Given the description of an element on the screen output the (x, y) to click on. 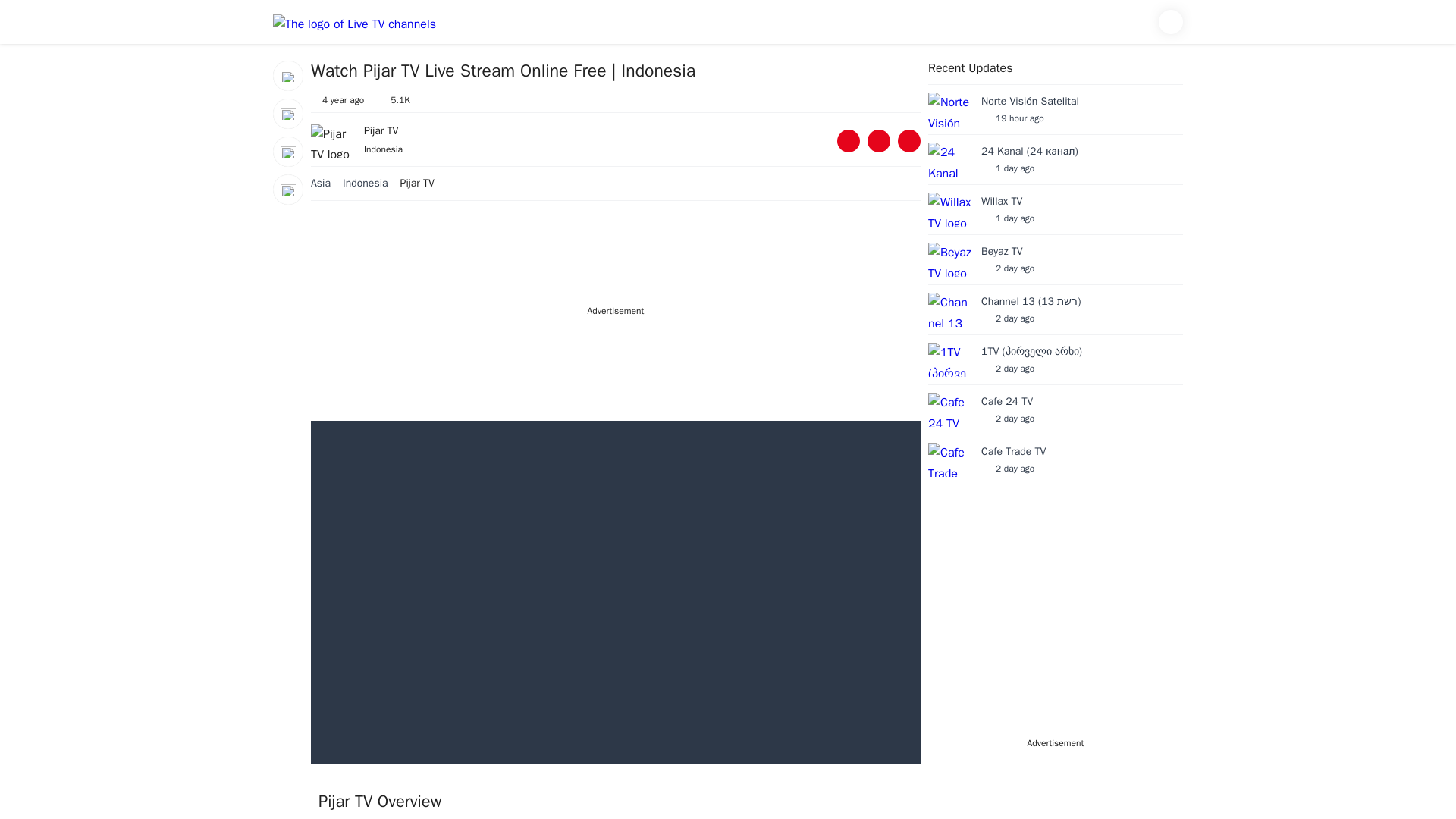
Asia (326, 183)
Recent Updates (287, 113)
Resource Links (909, 140)
Live TV channels: Live and Replay TV (354, 25)
Indonesia (371, 183)
Most Popular Channels (287, 151)
Home (287, 75)
Share (848, 140)
Report Broken (1055, 263)
